Given the description of an element on the screen output the (x, y) to click on. 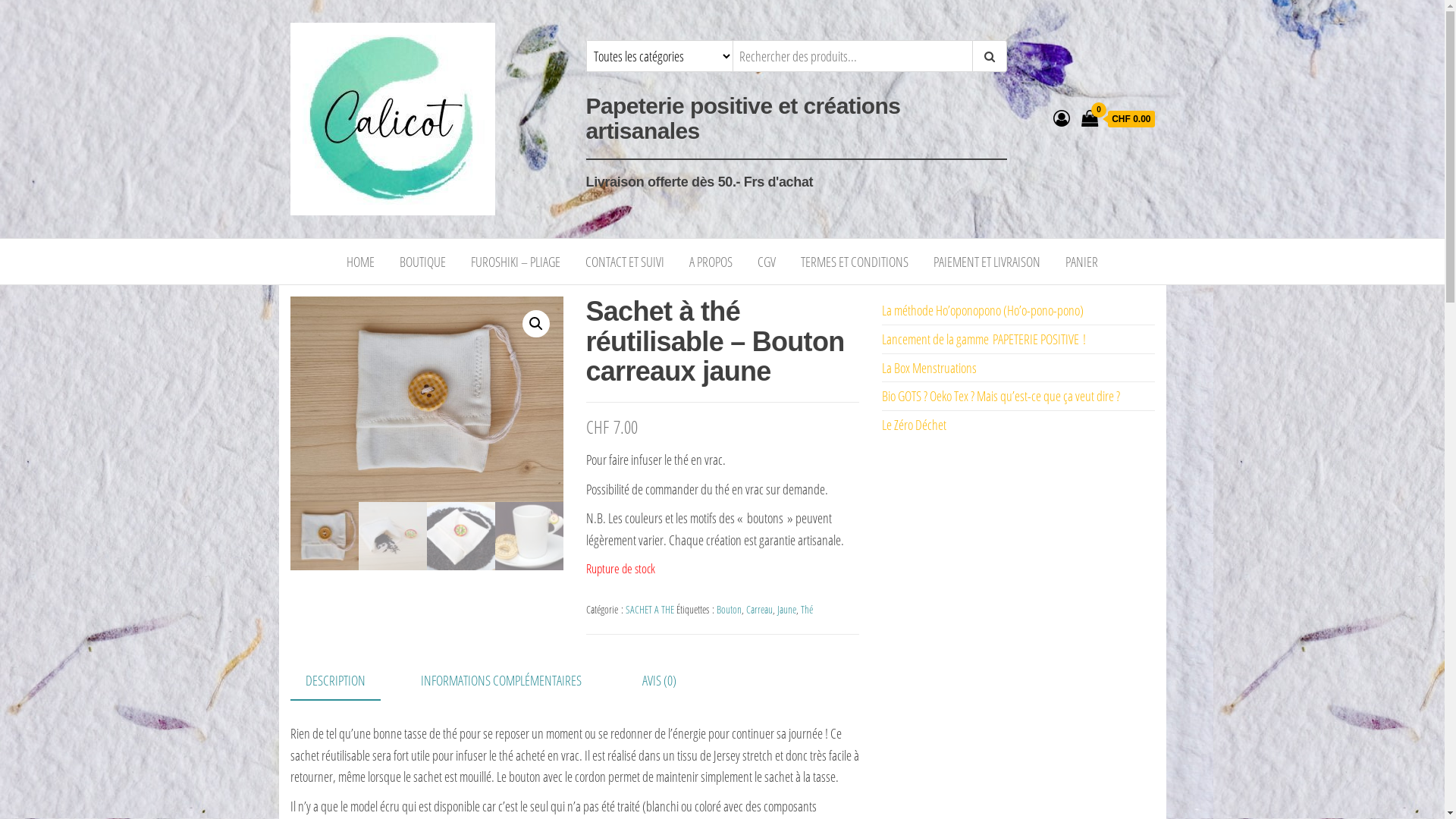
Carreau Element type: text (759, 609)
AVIS (0) Element type: text (659, 680)
Lancement de la gamme PAPETERIE POSITIVE ! Element type: text (983, 338)
0
CHF 0.00 Element type: text (1117, 118)
Bouton Element type: text (727, 609)
SACHET A THE Element type: text (648, 609)
CGV Element type: text (766, 261)
TERMES ET CONDITIONS Element type: text (854, 261)
20210216_135018 Element type: hover (425, 399)
La Box Menstruations Element type: text (928, 367)
Jaune Element type: text (785, 609)
CONTACT ET SUIVI Element type: text (624, 261)
PANIER Element type: text (1081, 261)
PAIEMENT ET LIVRAISON Element type: text (986, 261)
A PROPOS Element type: text (710, 261)
Mon compte Element type: hover (1061, 117)
HOME Element type: text (360, 261)
BOUTIQUE Element type: text (422, 261)
DESCRIPTION Element type: text (334, 681)
